Given the description of an element on the screen output the (x, y) to click on. 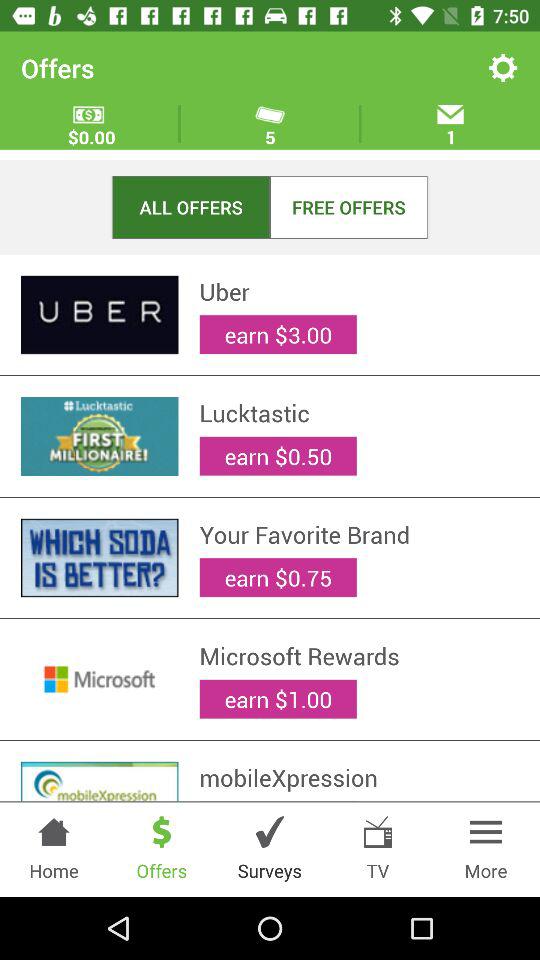
press the item next to all offers (348, 206)
